Given the description of an element on the screen output the (x, y) to click on. 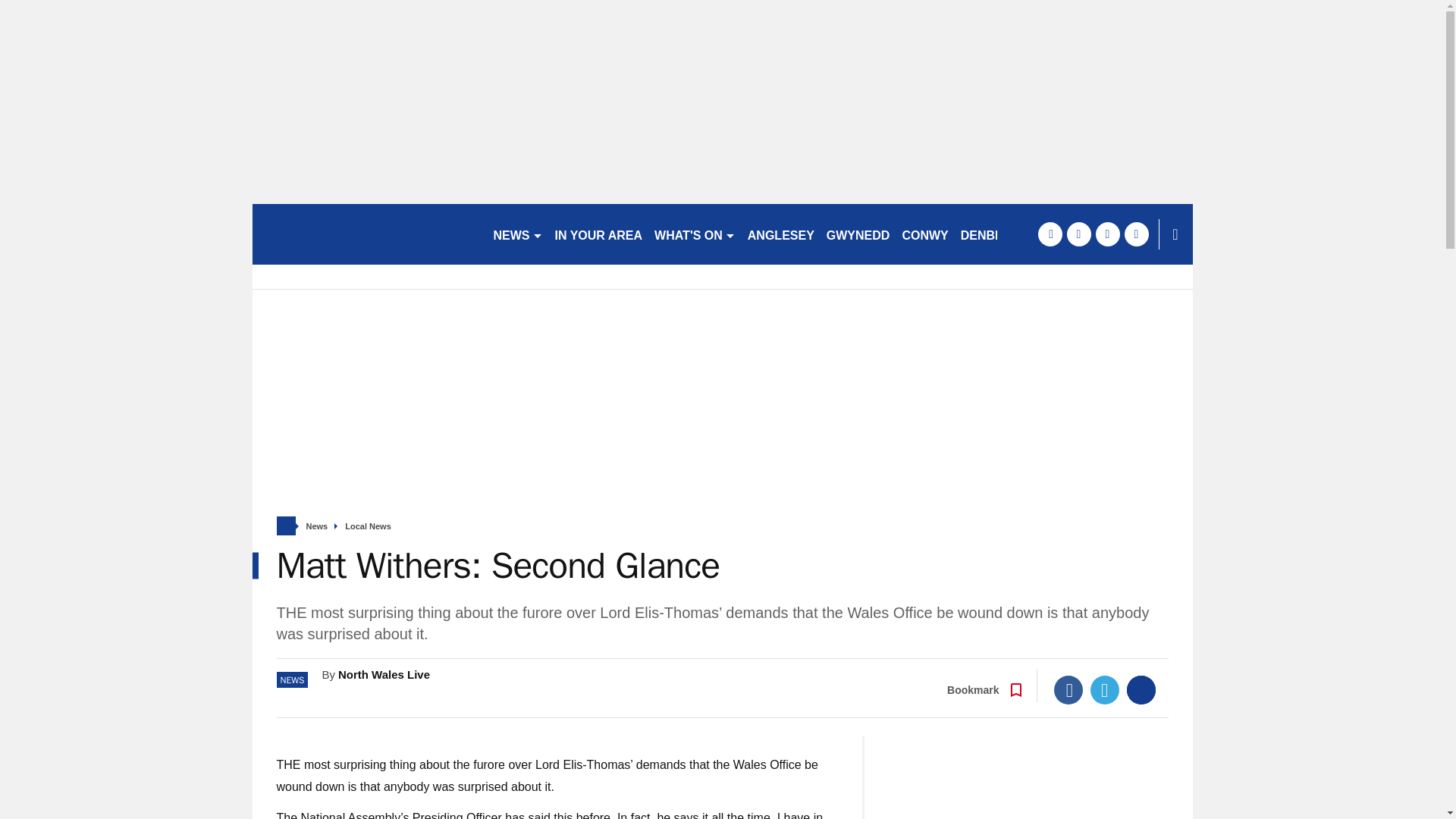
pinterest (1106, 233)
ANGLESEY (781, 233)
facebook (1048, 233)
IN YOUR AREA (598, 233)
GWYNEDD (858, 233)
twitter (1077, 233)
DENBIGHSHIRE (1007, 233)
WHAT'S ON (694, 233)
CONWY (924, 233)
northwales (365, 233)
